Given the description of an element on the screen output the (x, y) to click on. 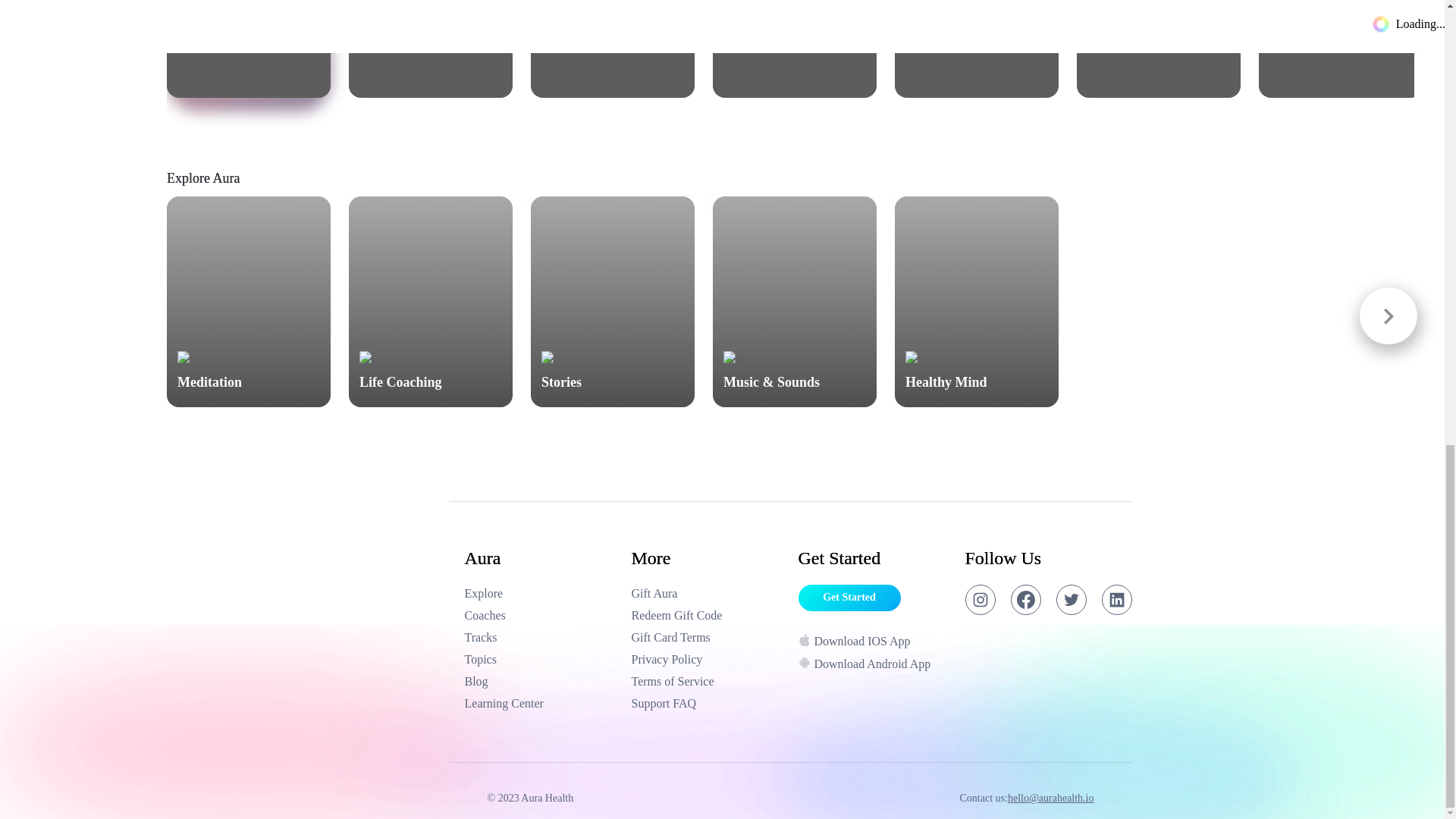
Support FAQ (430, 48)
Explore (706, 703)
Get Started (539, 593)
Topics (248, 48)
Gift Card Terms (1340, 48)
